Given the description of an element on the screen output the (x, y) to click on. 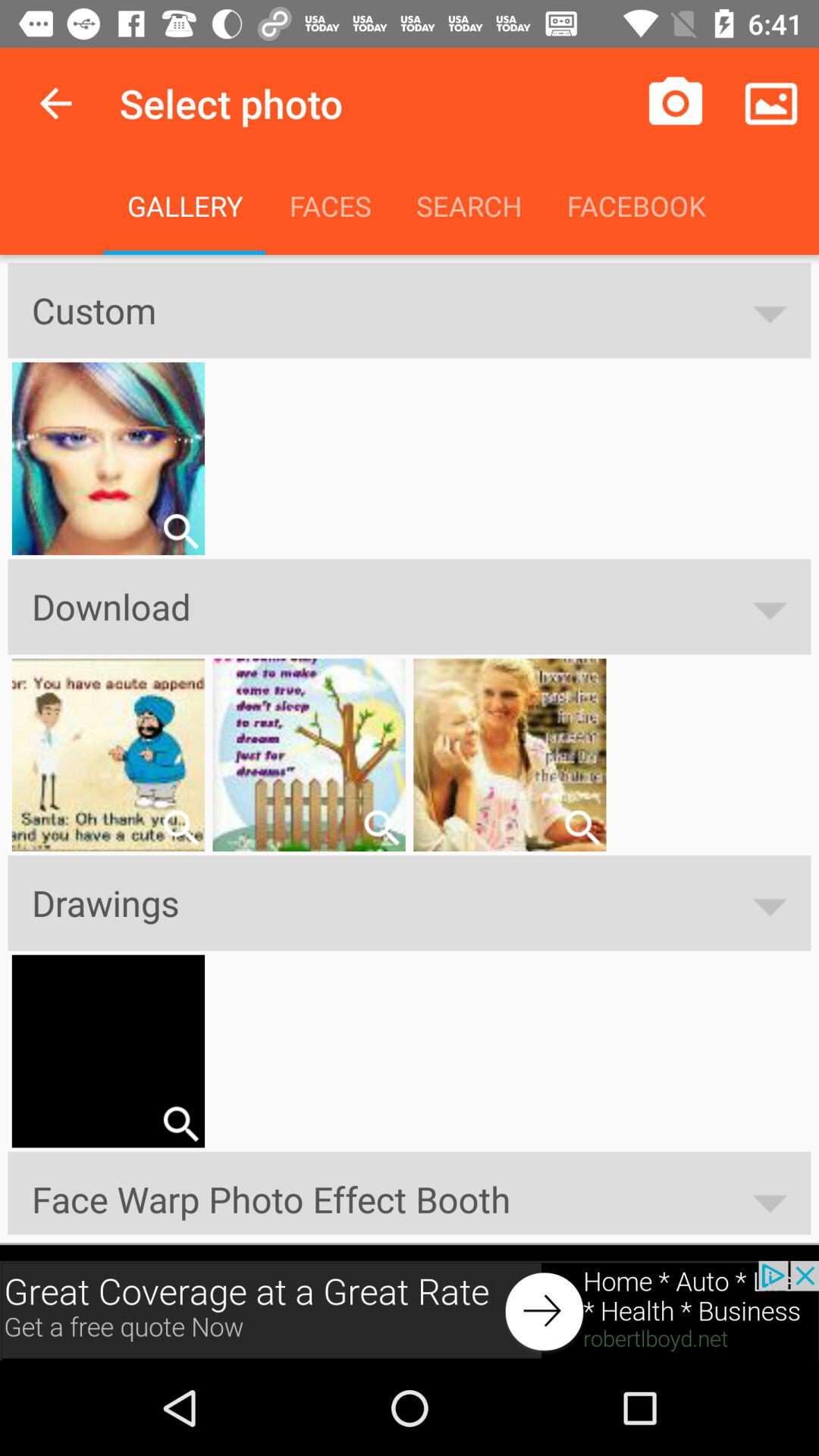
share the option (180, 1123)
